Given the description of an element on the screen output the (x, y) to click on. 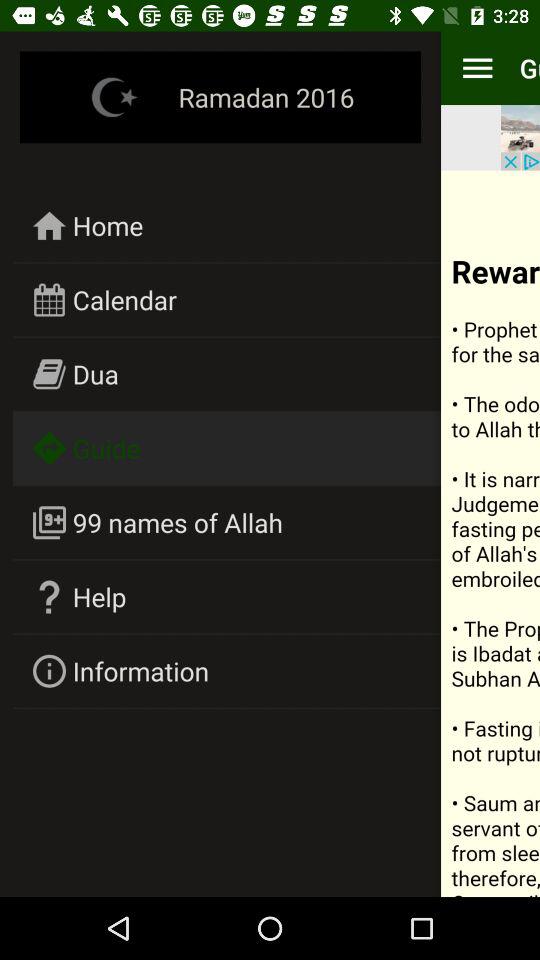
choose item next to the guide item (477, 68)
